Given the description of an element on the screen output the (x, y) to click on. 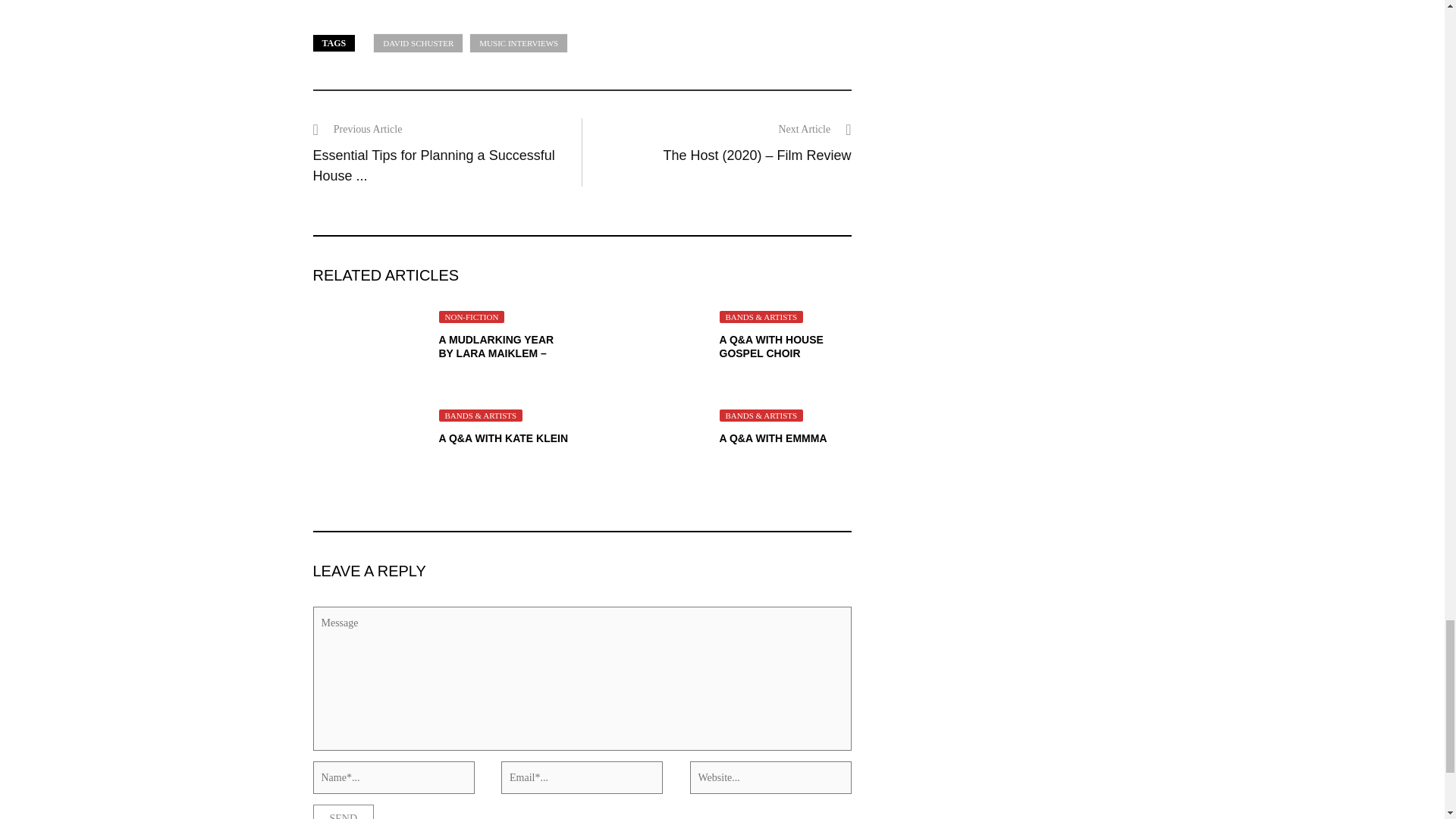
View all posts tagged David Schuster (417, 43)
View all posts tagged Music Interviews (517, 43)
Send (343, 811)
